Given the description of an element on the screen output the (x, y) to click on. 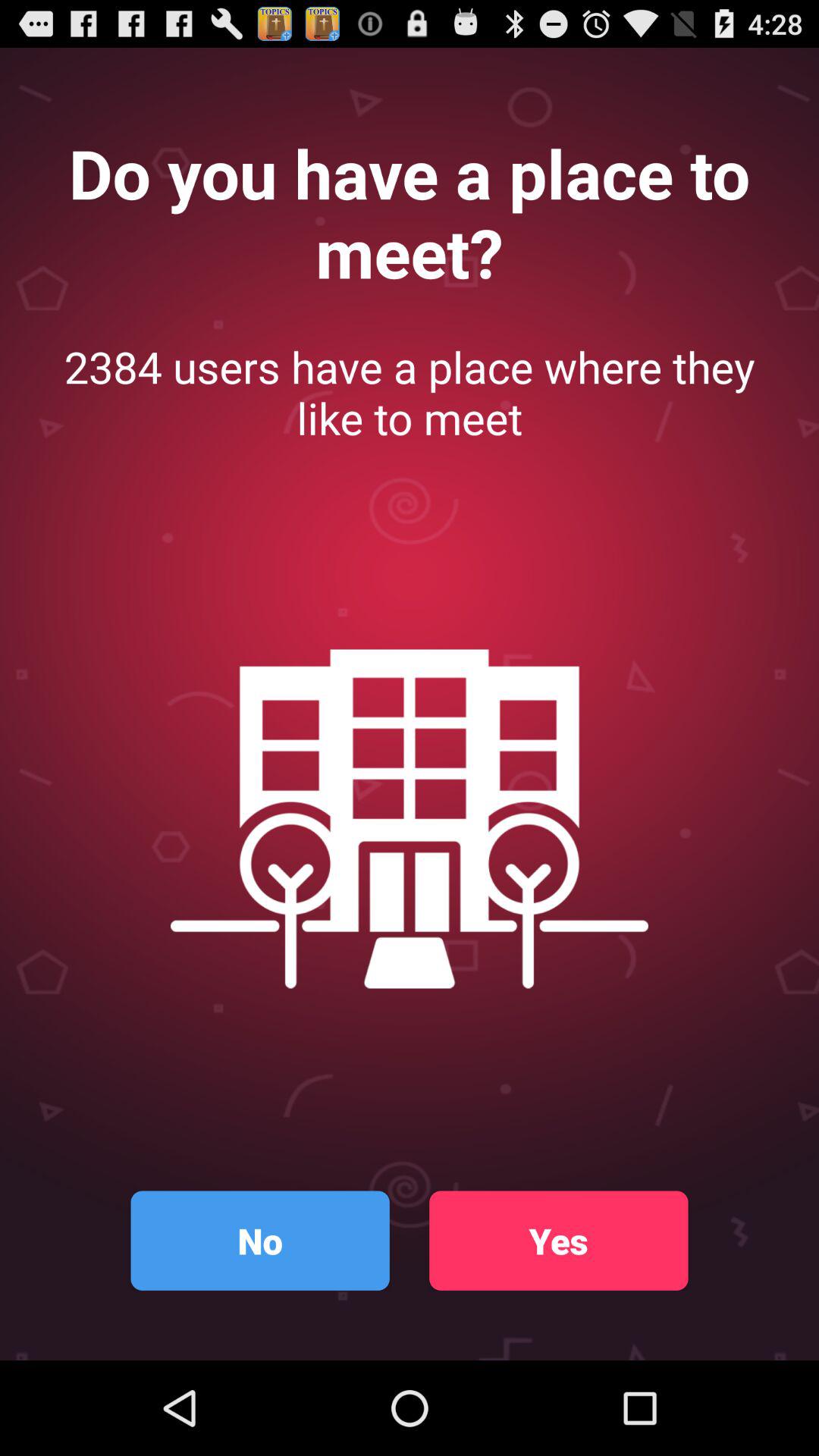
click item at the bottom right corner (558, 1240)
